Given the description of an element on the screen output the (x, y) to click on. 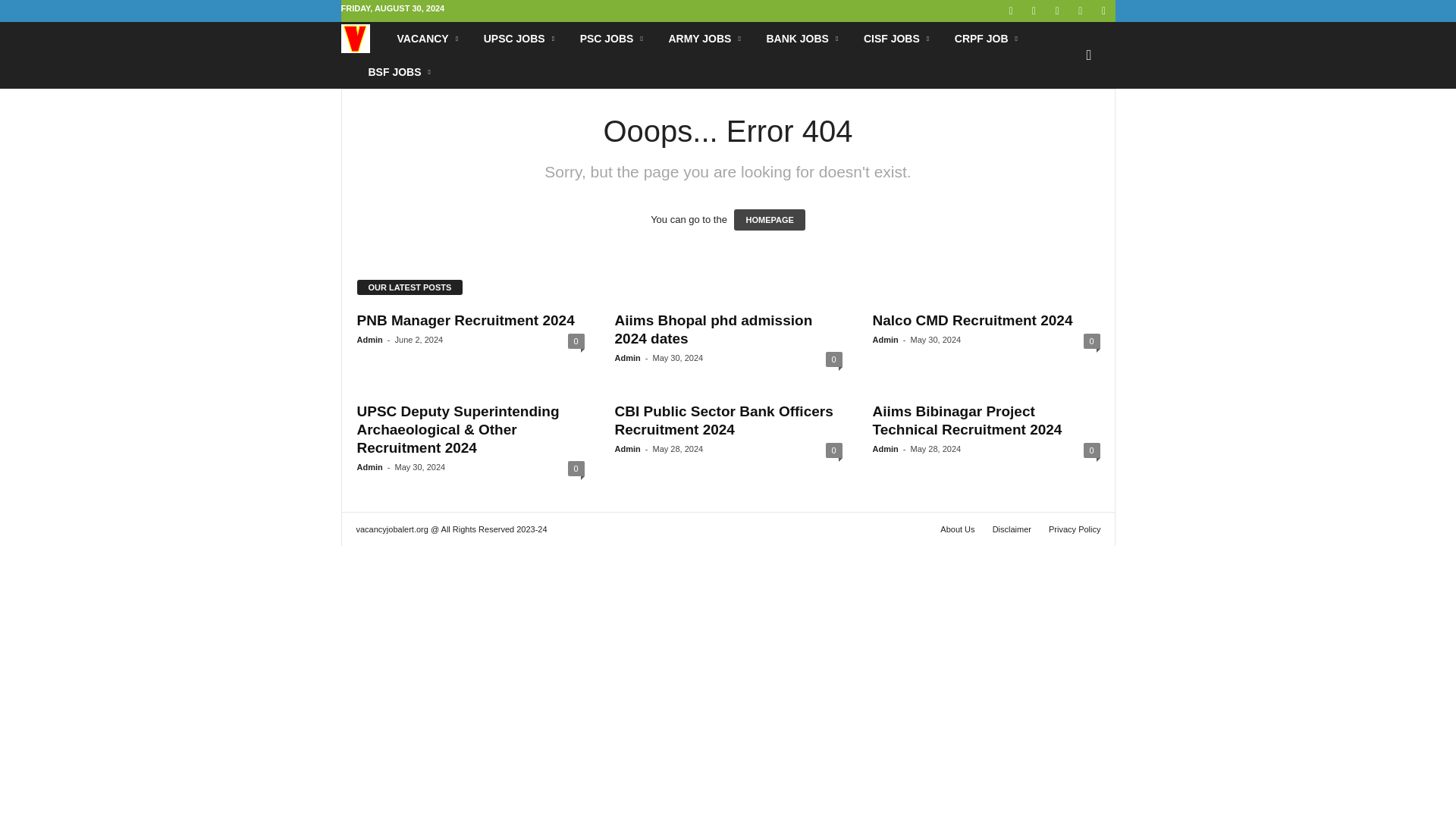
VACANCY (428, 38)
Vacancy (362, 39)
PSC JOBS (613, 38)
UPSC JOBS (520, 38)
